Given the description of an element on the screen output the (x, y) to click on. 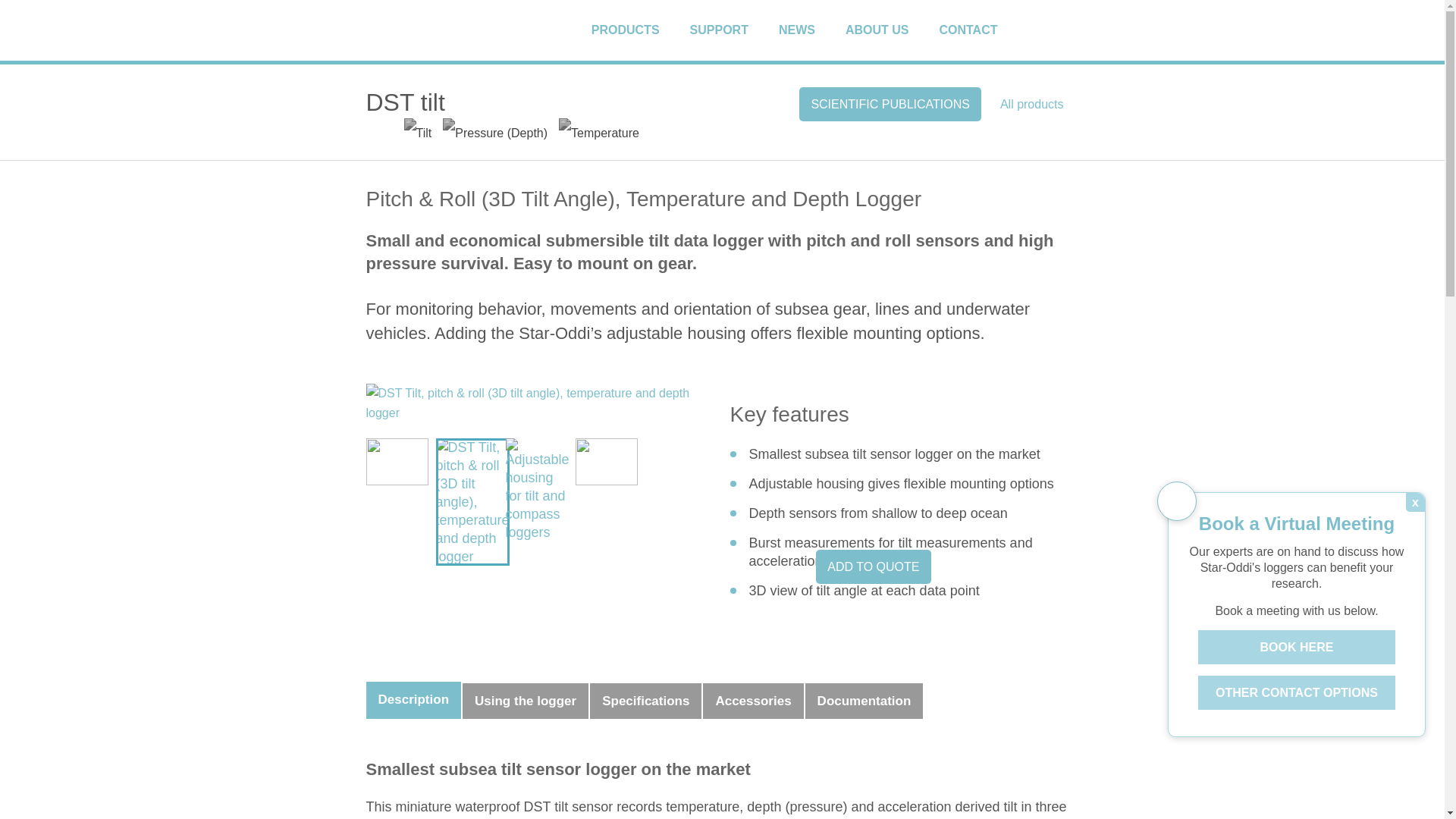
Quote basket (1070, 30)
Star-oddi (419, 33)
Quote basket (1070, 30)
ABOUT US (890, 29)
Search (1043, 30)
SCIENTIFIC PUBLICATIONS (890, 103)
All products (1031, 103)
NEWS (809, 29)
SUPPORT (732, 29)
CONTACT (981, 29)
Search (1043, 30)
PRODUCTS (638, 29)
